Given the description of an element on the screen output the (x, y) to click on. 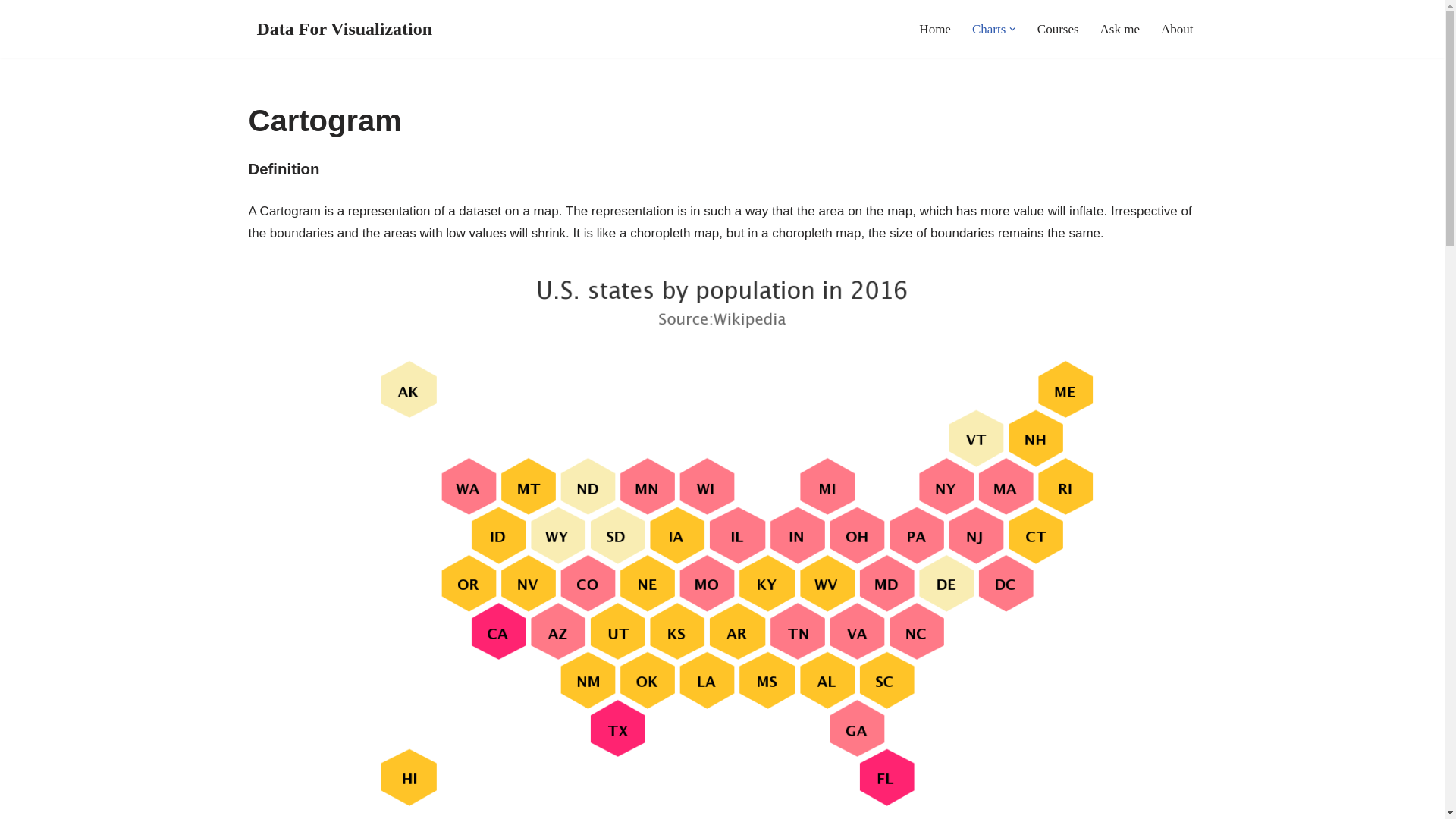
Skip to content (11, 31)
Charts (989, 28)
Home (934, 28)
Data For Visualization (340, 29)
